Given the description of an element on the screen output the (x, y) to click on. 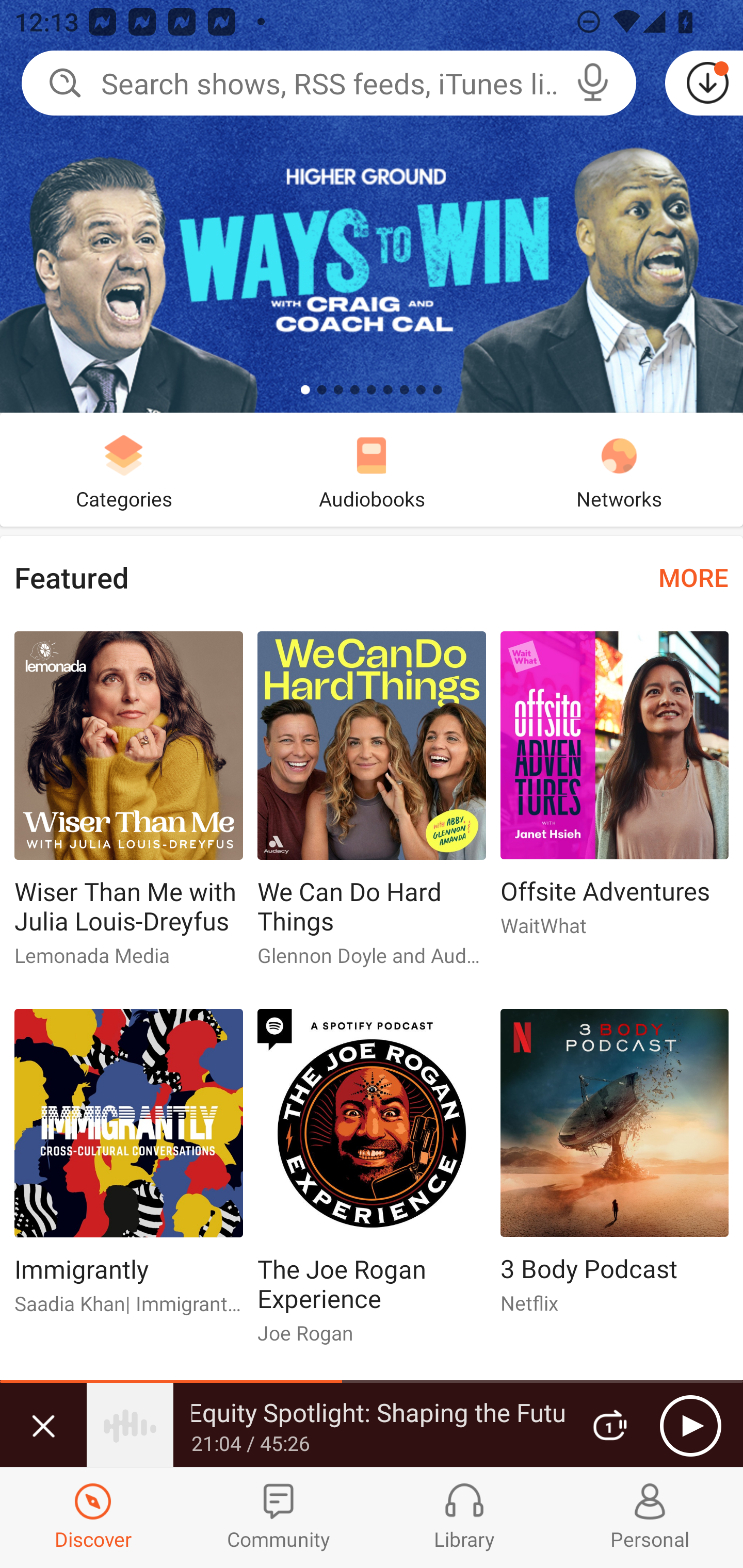
Ways To Win (371, 206)
Categories (123, 469)
Audiobooks (371, 469)
Networks (619, 469)
MORE (693, 576)
Offsite Adventures Offsite Adventures WaitWhat (614, 792)
3 Body Podcast 3 Body Podcast Netflix (614, 1169)
Play (690, 1425)
Discover (92, 1517)
Community (278, 1517)
Library (464, 1517)
Profiles and Settings Personal (650, 1517)
